Given the description of an element on the screen output the (x, y) to click on. 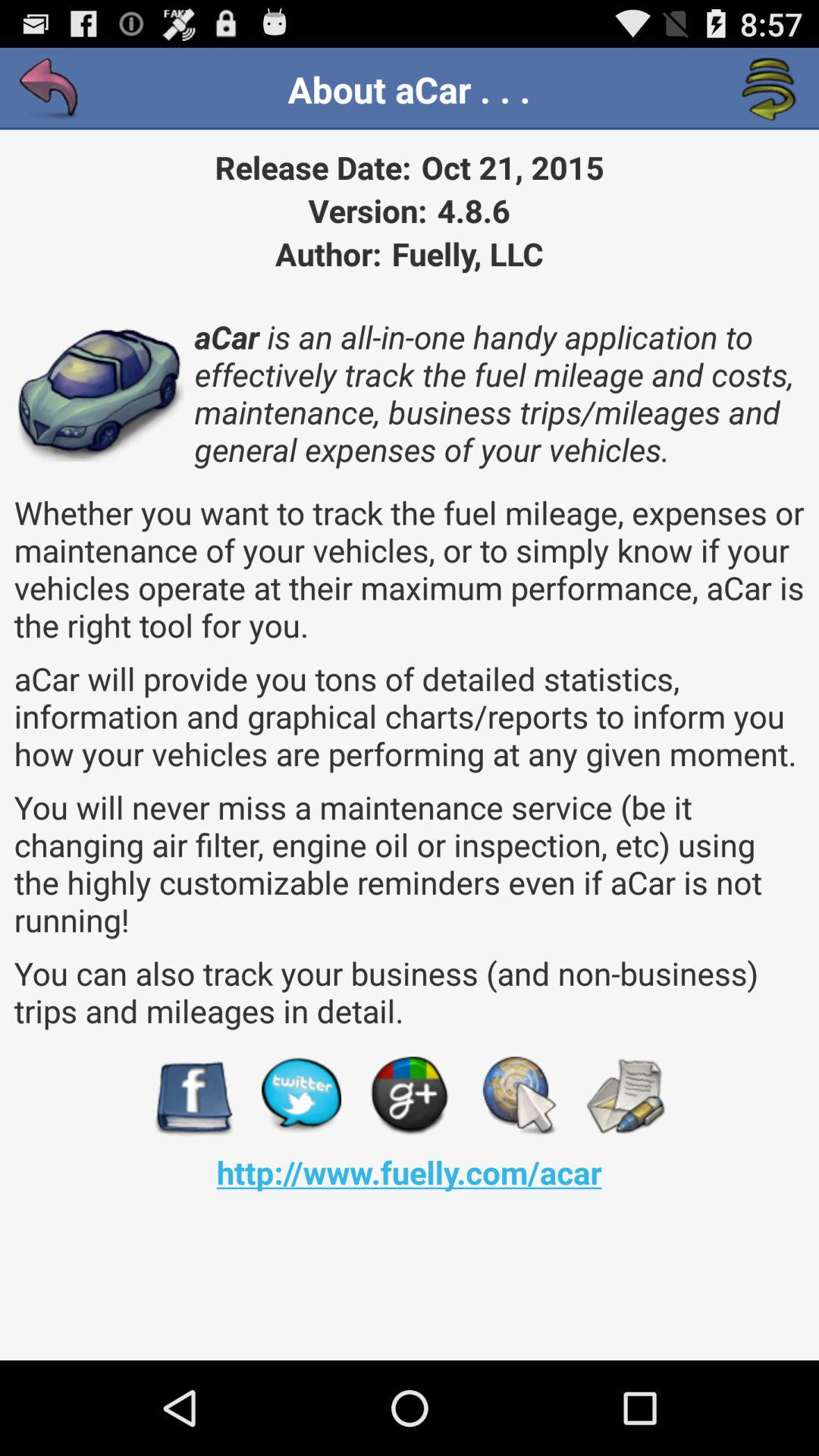
browse button (517, 1096)
